Given the description of an element on the screen output the (x, y) to click on. 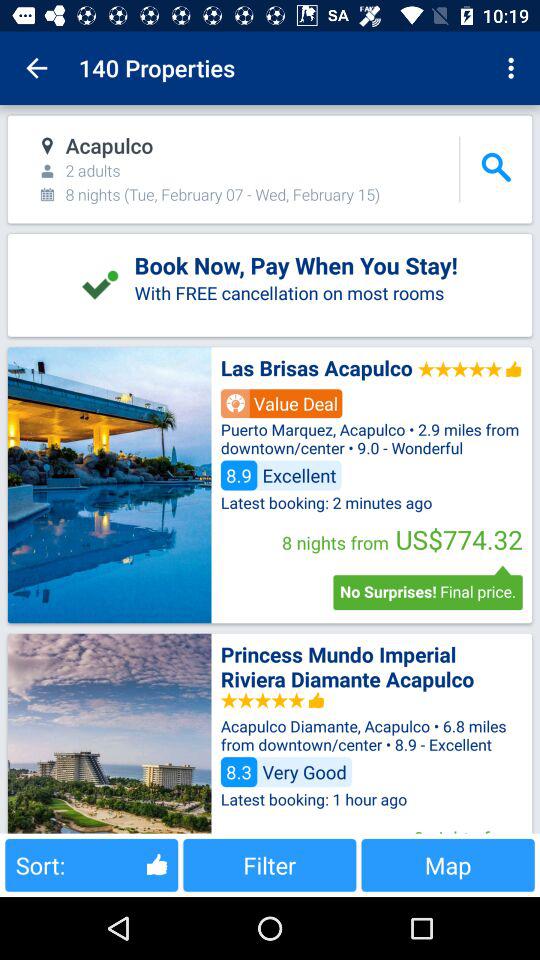
press the item to the left of map item (269, 864)
